Given the description of an element on the screen output the (x, y) to click on. 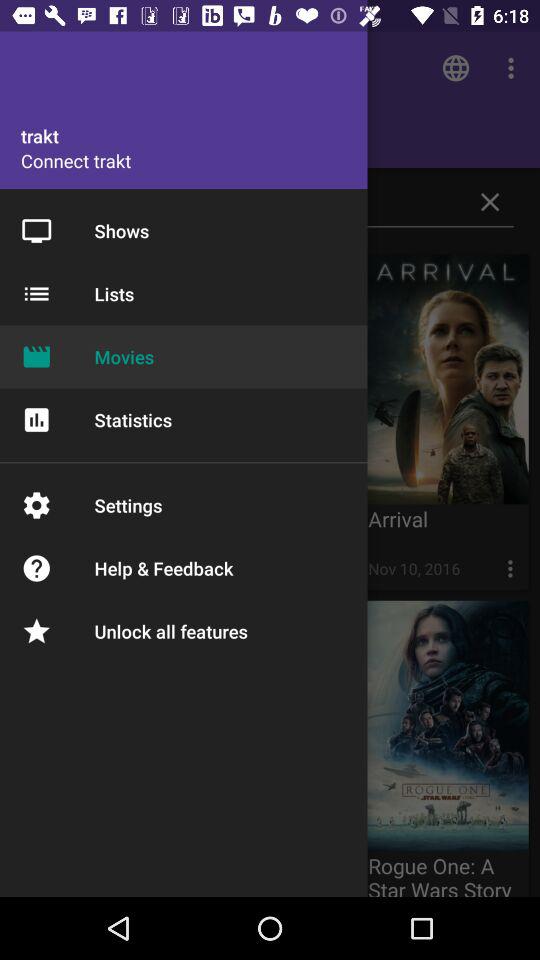
click on the symbol which is above the trakt (456, 68)
